Given the description of an element on the screen output the (x, y) to click on. 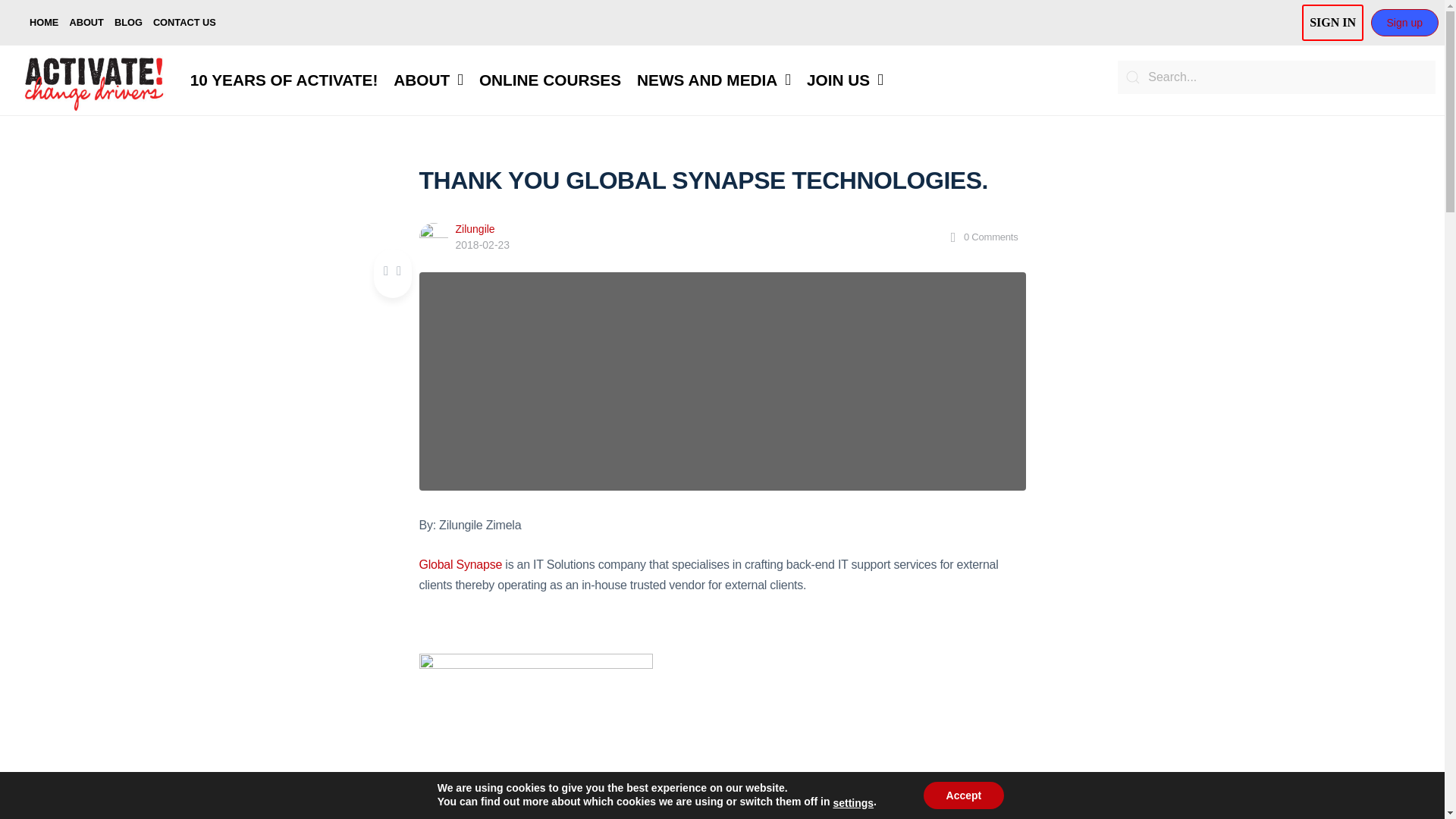
Search (1276, 77)
